Given the description of an element on the screen output the (x, y) to click on. 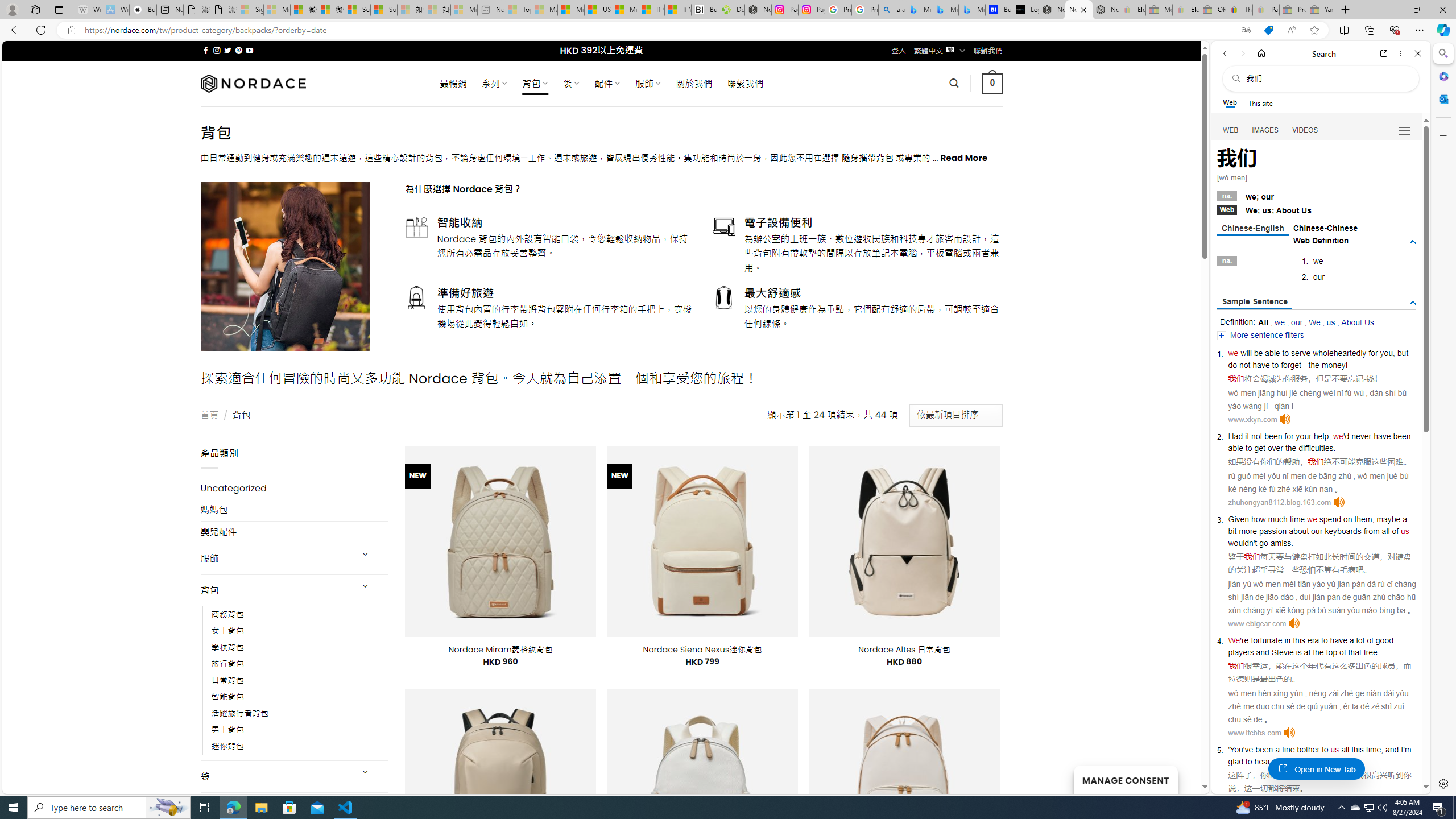
the (1290, 447)
WEB (1231, 130)
era (1313, 640)
all (1344, 749)
You (1236, 749)
Payments Terms of Use | eBay.com - Sleeping (1265, 9)
Follow on Twitter (227, 50)
Press Room - eBay Inc. - Sleeping (1292, 9)
